Given the description of an element on the screen output the (x, y) to click on. 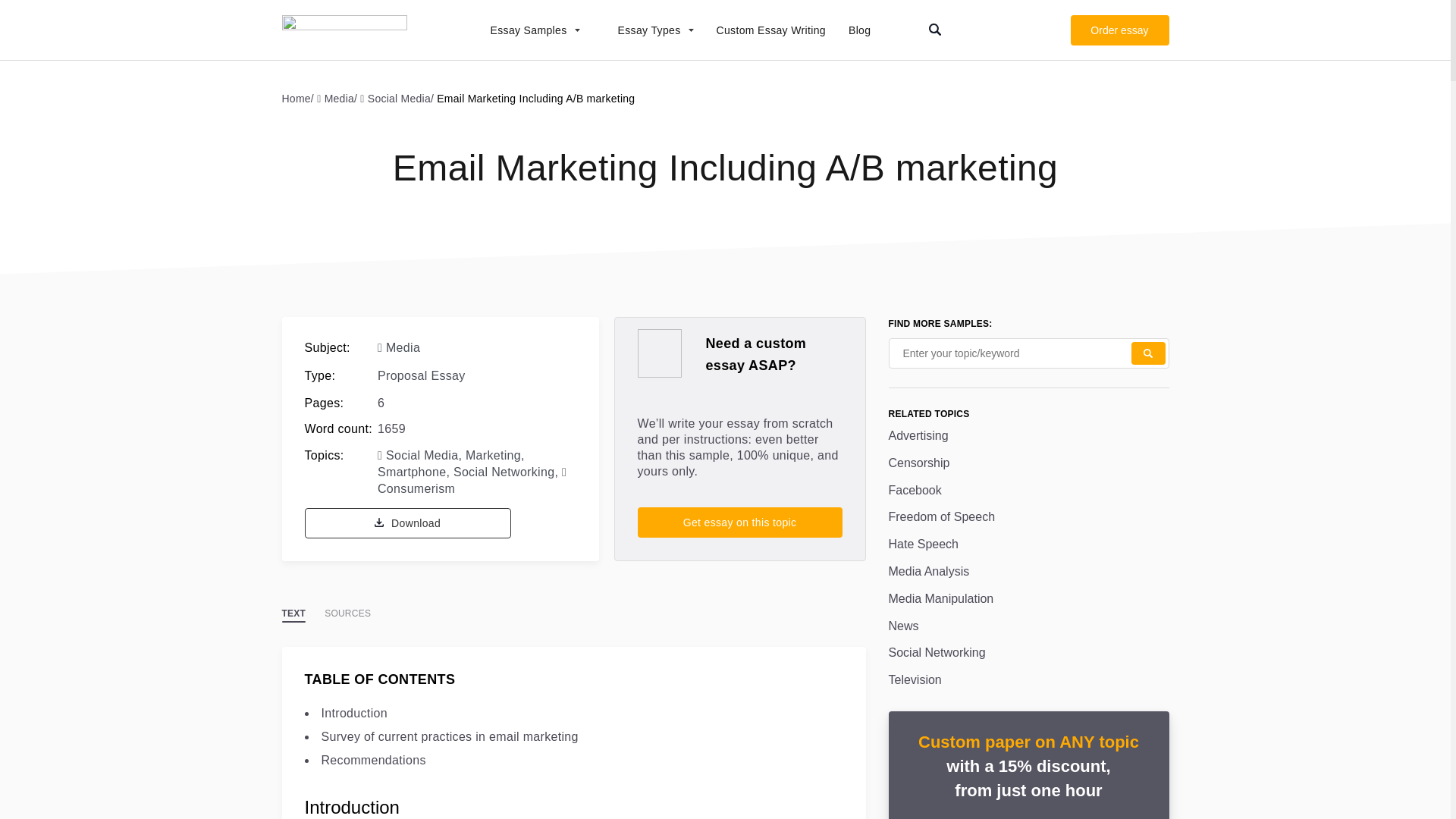
Go to Examples. (299, 97)
Recommendations (373, 759)
Introduction (354, 712)
Survey of current practices in email marketing (449, 736)
Essay Samples (526, 30)
Search (1148, 353)
Essay Types (648, 30)
